Given the description of an element on the screen output the (x, y) to click on. 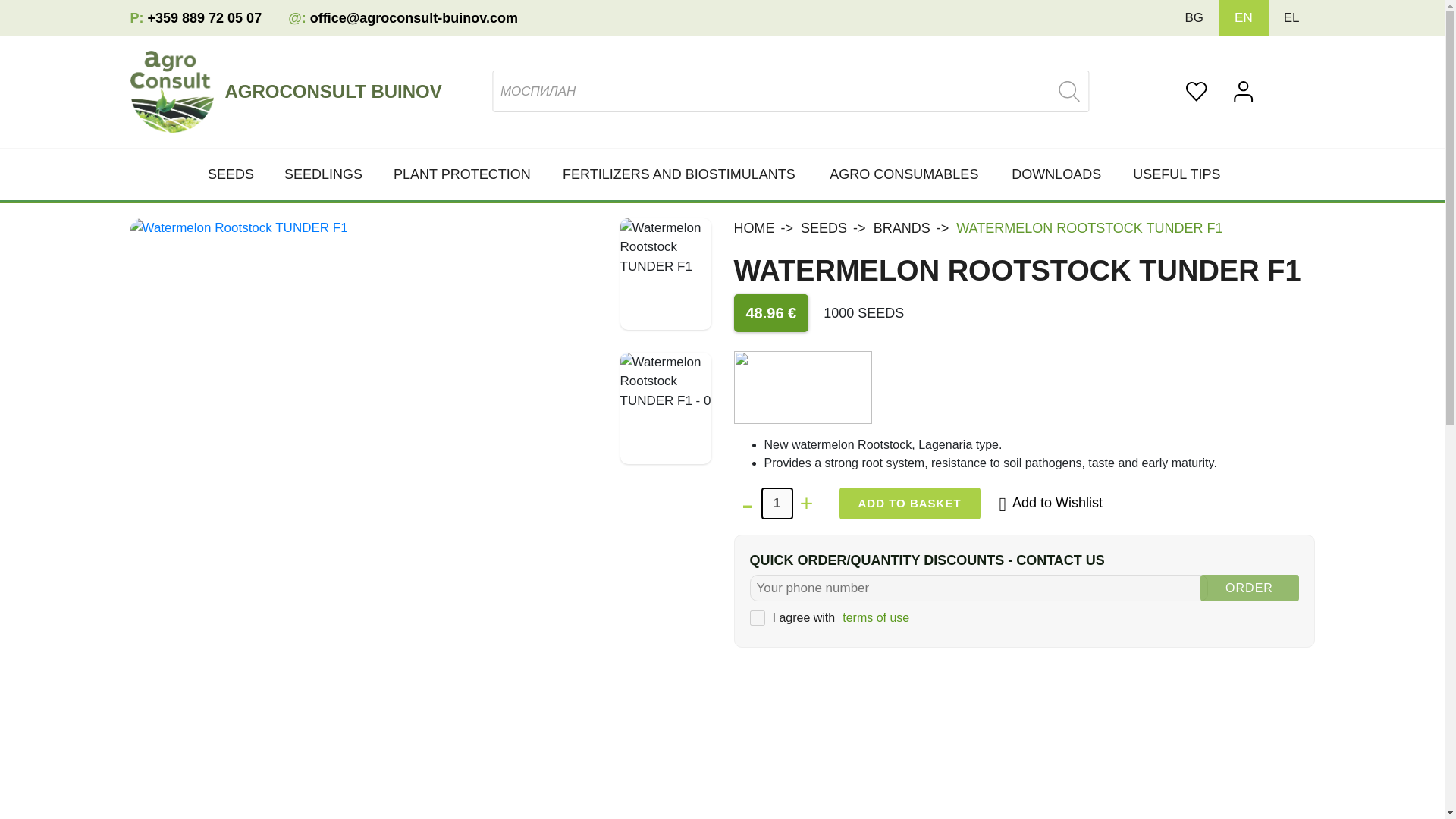
AGROCONSULT BUINOV (338, 91)
SEEDS (238, 174)
EN (1243, 17)
1 (777, 503)
Qty (777, 503)
EL (1292, 17)
BG (1194, 17)
on (756, 617)
